Given the description of an element on the screen output the (x, y) to click on. 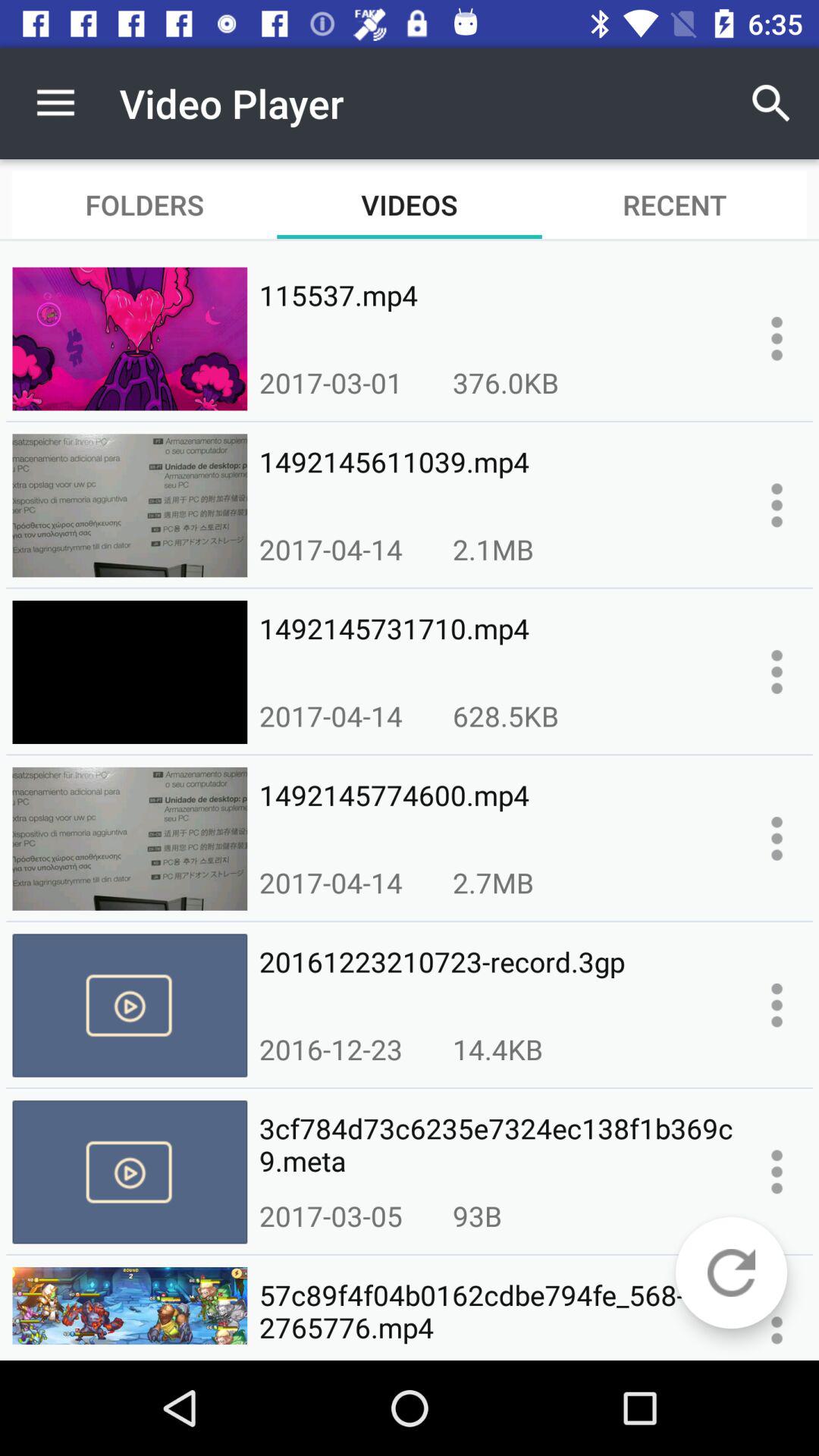
open icon next to video player icon (55, 103)
